Given the description of an element on the screen output the (x, y) to click on. 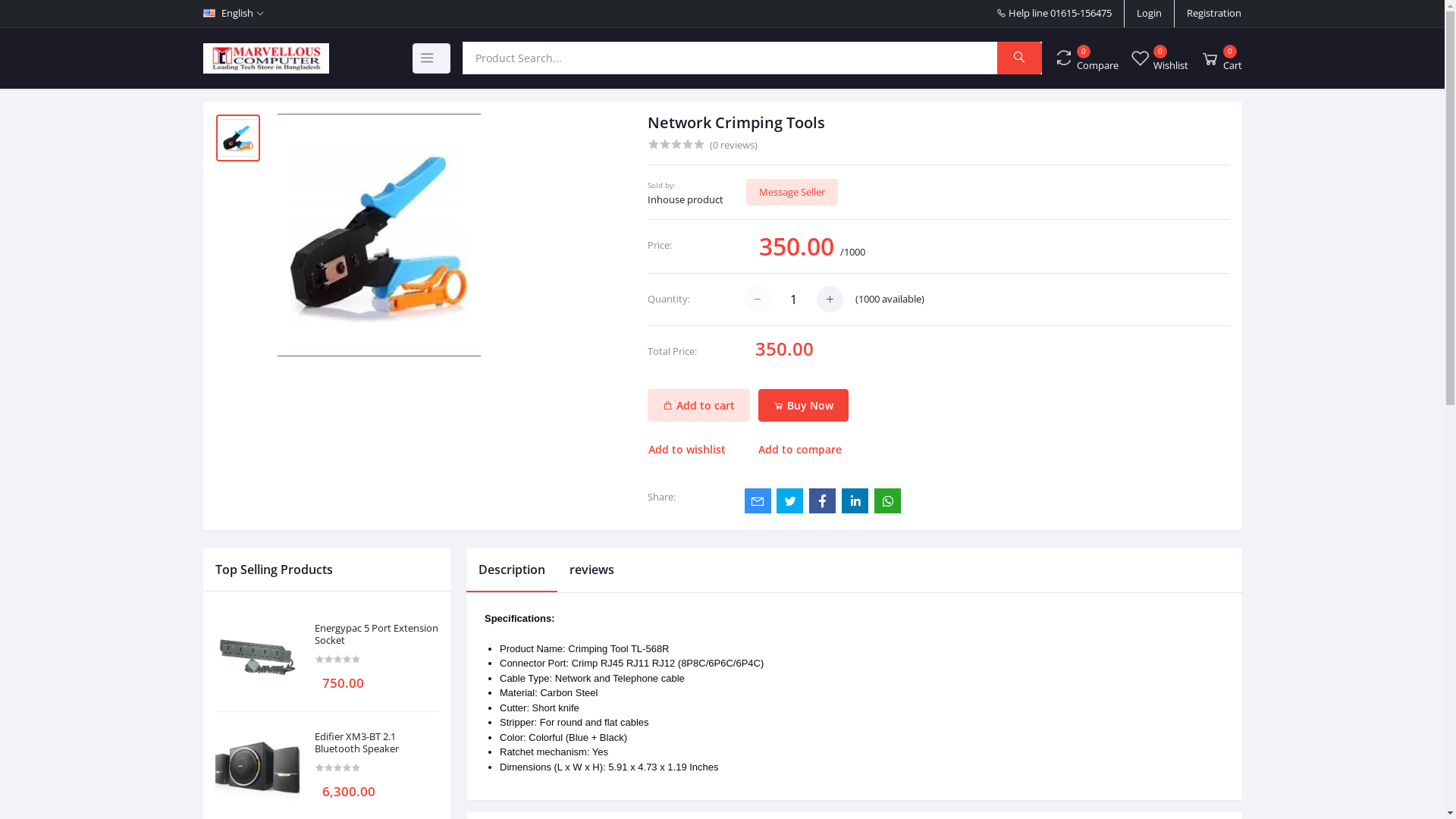
0
Compare Element type: text (1086, 57)
English Element type: text (233, 13)
Description Element type: text (511, 570)
Edifier XM3-BT 2.1 Bluetooth Speaker Element type: text (376, 742)
0
Cart Element type: text (1220, 57)
Add to wishlist Element type: text (693, 449)
0
Wishlist Element type: text (1158, 57)
Help line 01615-156475 Element type: text (1053, 13)
Add to compare Element type: text (799, 449)
Buy Now Element type: text (803, 404)
Message Seller Element type: text (791, 191)
Login Element type: text (1148, 13)
Registration Element type: text (1213, 13)
reviews Element type: text (591, 570)
Add to cart Element type: text (698, 404)
Energypac 5 Port Extension Socket Element type: text (376, 634)
